Given the description of an element on the screen output the (x, y) to click on. 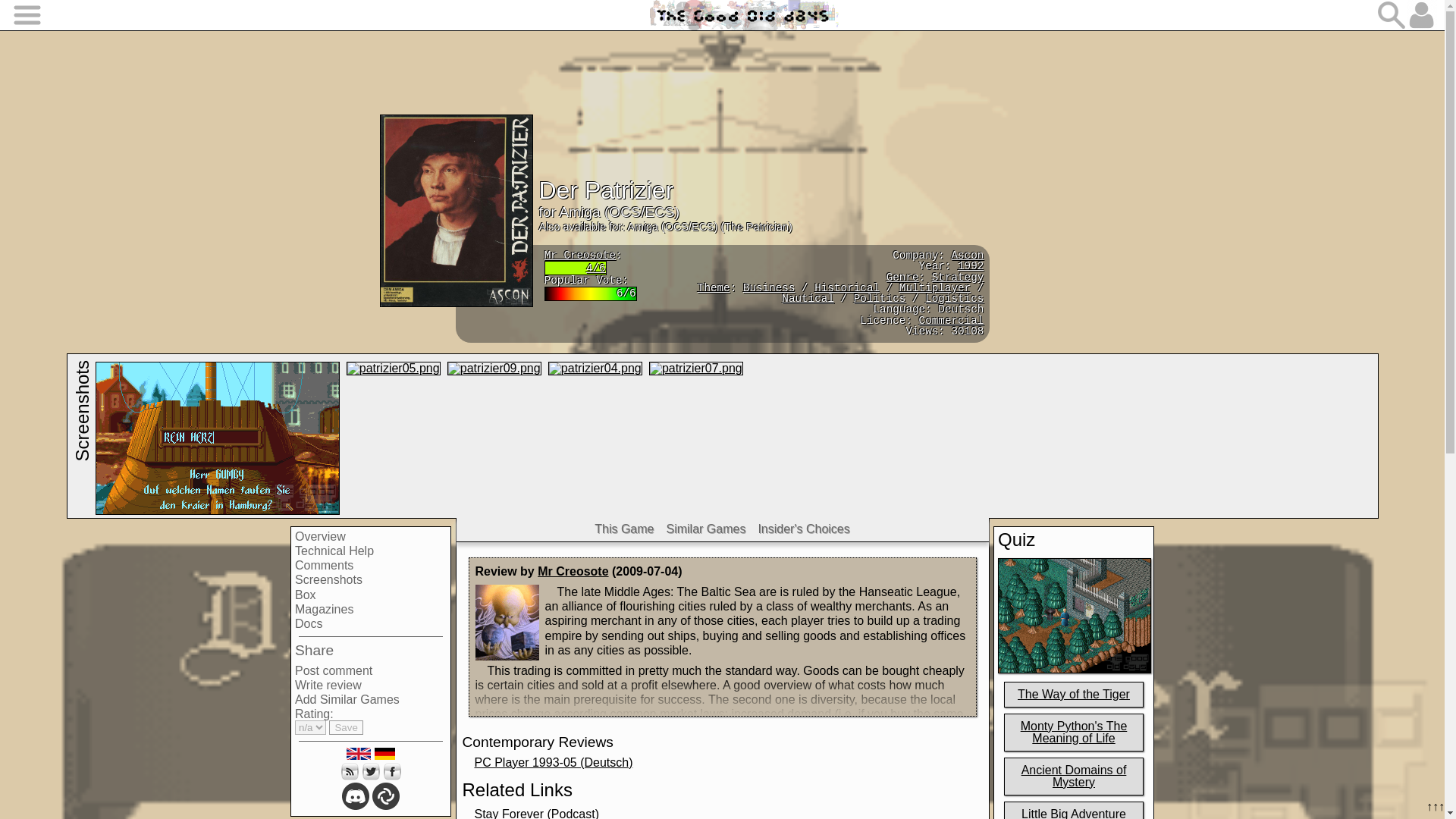
Matrix (385, 795)
Logistics (954, 298)
1992 (971, 265)
Mr Creosote (579, 255)
Multiplayer (935, 287)
Ascon (967, 255)
Mr Creosote (572, 571)
Business (768, 287)
Amiga (579, 211)
Twitter (370, 771)
Discord (355, 795)
Nautical (807, 298)
? (713, 287)
Genre (902, 277)
? (902, 277)
